Given the description of an element on the screen output the (x, y) to click on. 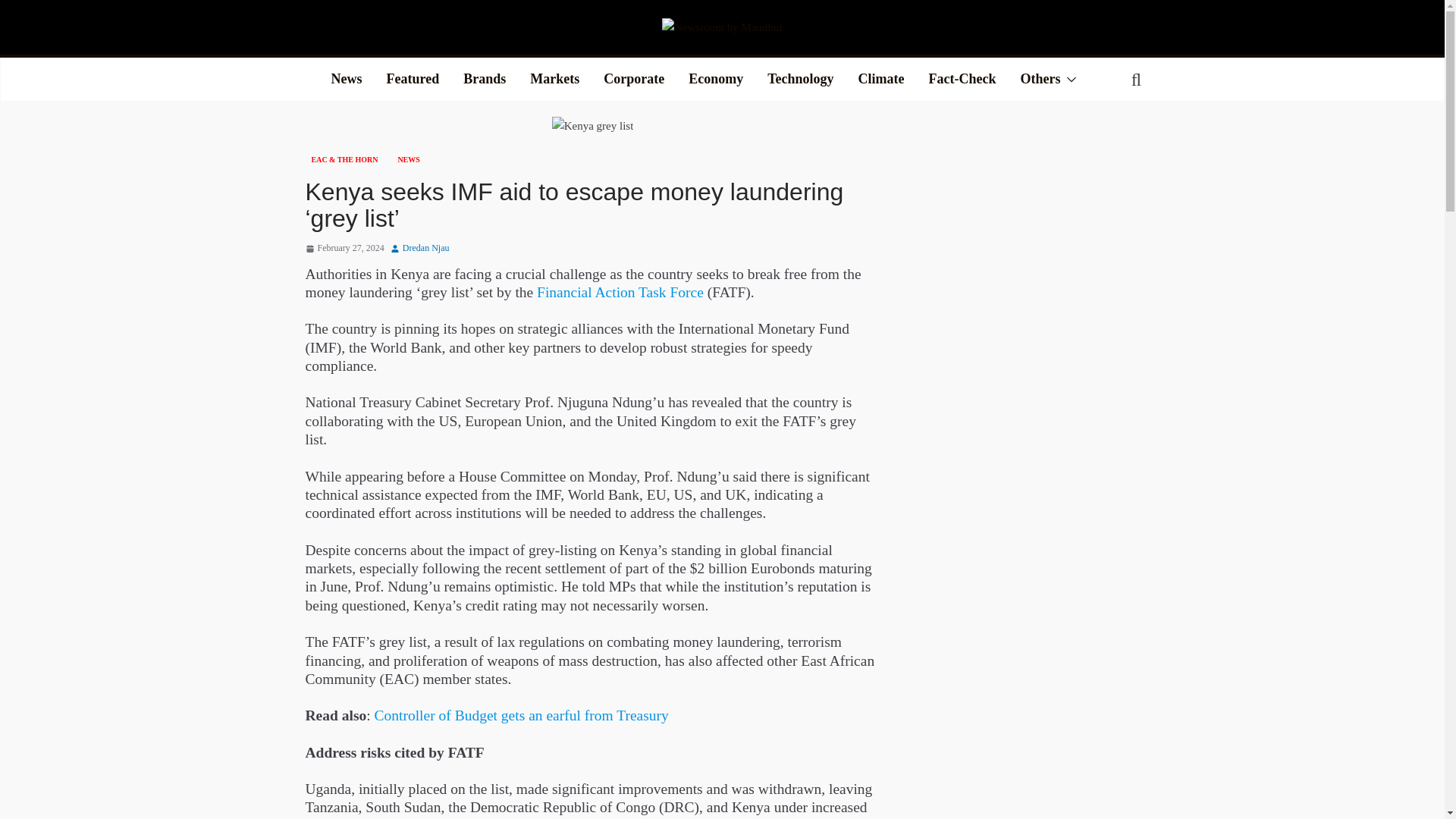
Fact-Check (961, 79)
Markets (554, 79)
NEWS (408, 159)
Featured (413, 79)
Brands (484, 79)
News (345, 79)
Technology (799, 79)
Corporate (633, 79)
Others (1039, 79)
Economy (715, 79)
